Given the description of an element on the screen output the (x, y) to click on. 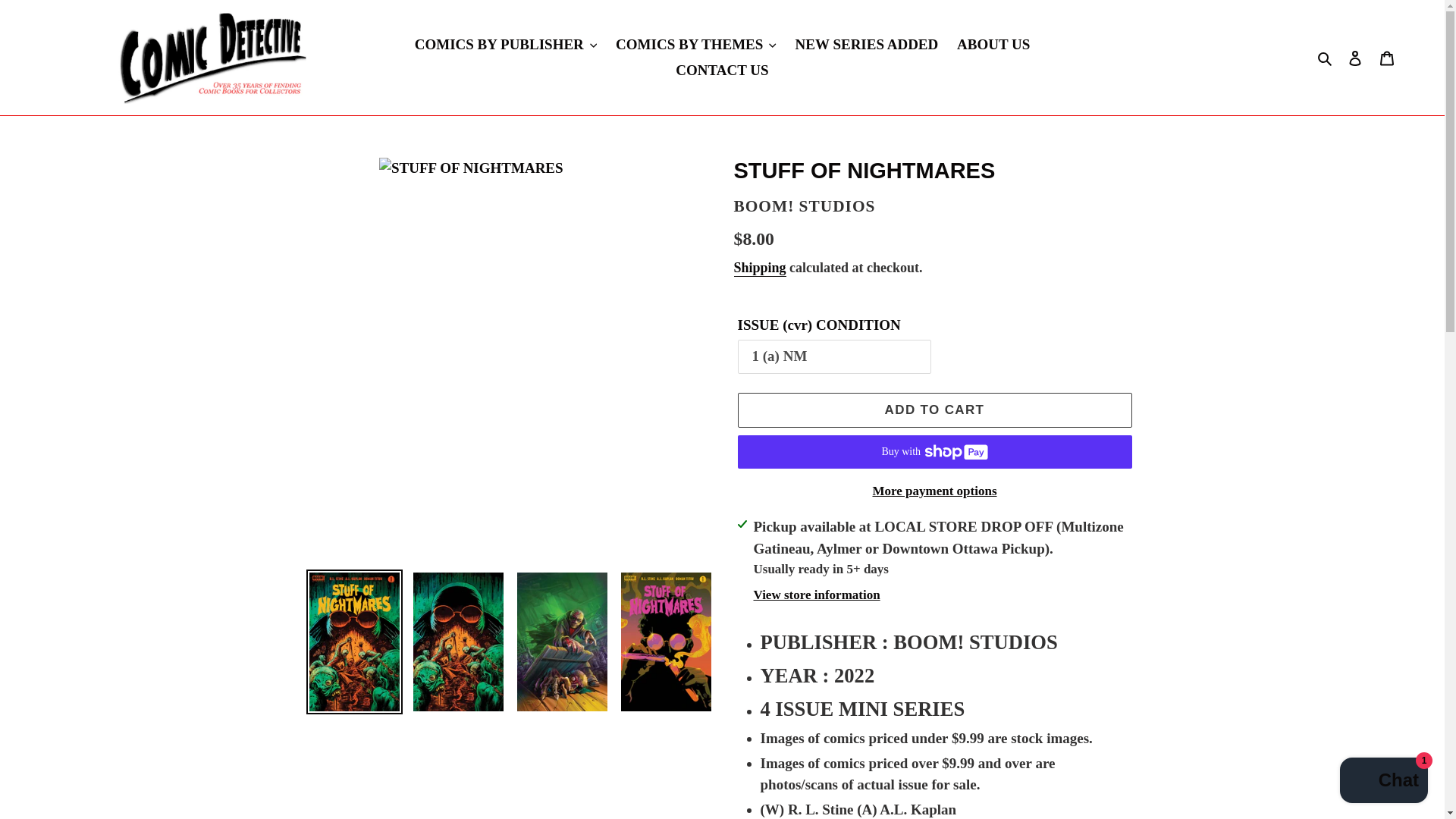
NEW SERIES ADDED (866, 44)
CONTACT US (722, 70)
ABOUT US (992, 44)
Search (1326, 57)
COMICS BY PUBLISHER (506, 44)
Shopify online store chat (1383, 781)
COMICS BY THEMES (696, 44)
